Given the description of an element on the screen output the (x, y) to click on. 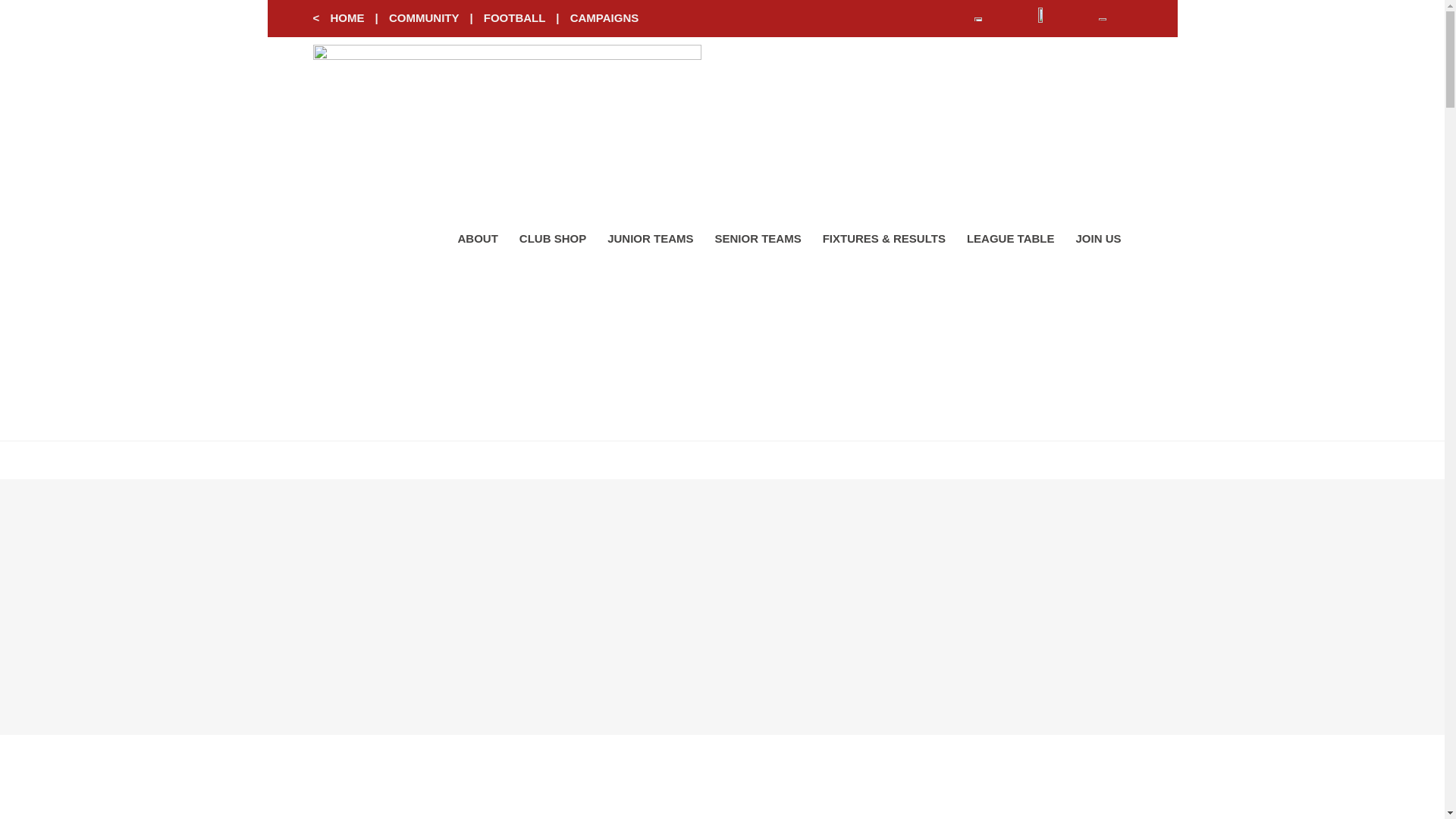
CLUB SHOP (552, 238)
ABOUT (477, 238)
JUNIOR TEAMS (649, 238)
HOME (347, 17)
COMMUNITY (423, 17)
CAMPAIGNS (604, 17)
FOOTBALL (513, 17)
